Given the description of an element on the screen output the (x, y) to click on. 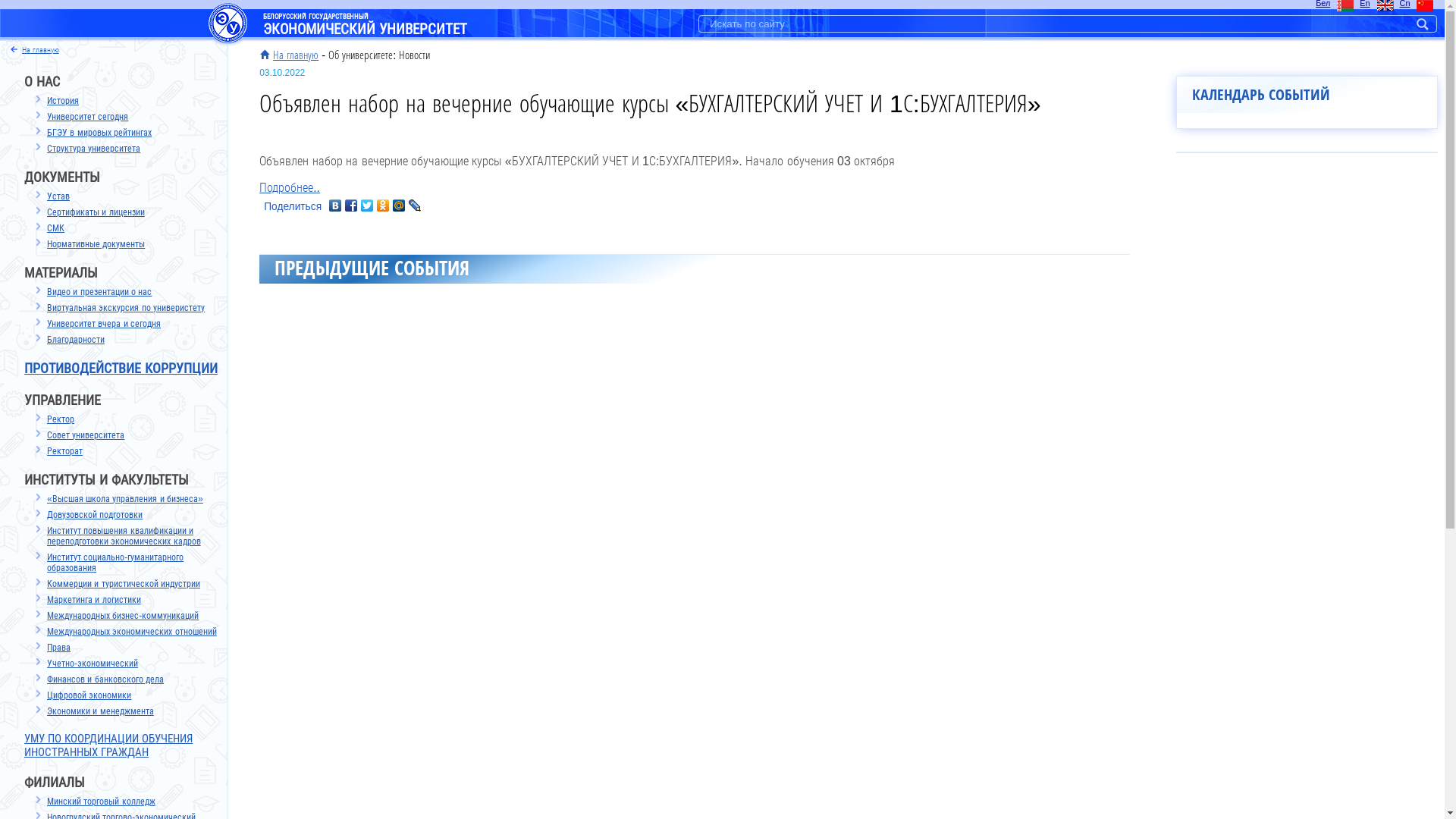
Facebook Element type: hover (351, 205)
Twitter Element type: hover (367, 205)
LiveJournal Element type: hover (415, 205)
